Given the description of an element on the screen output the (x, y) to click on. 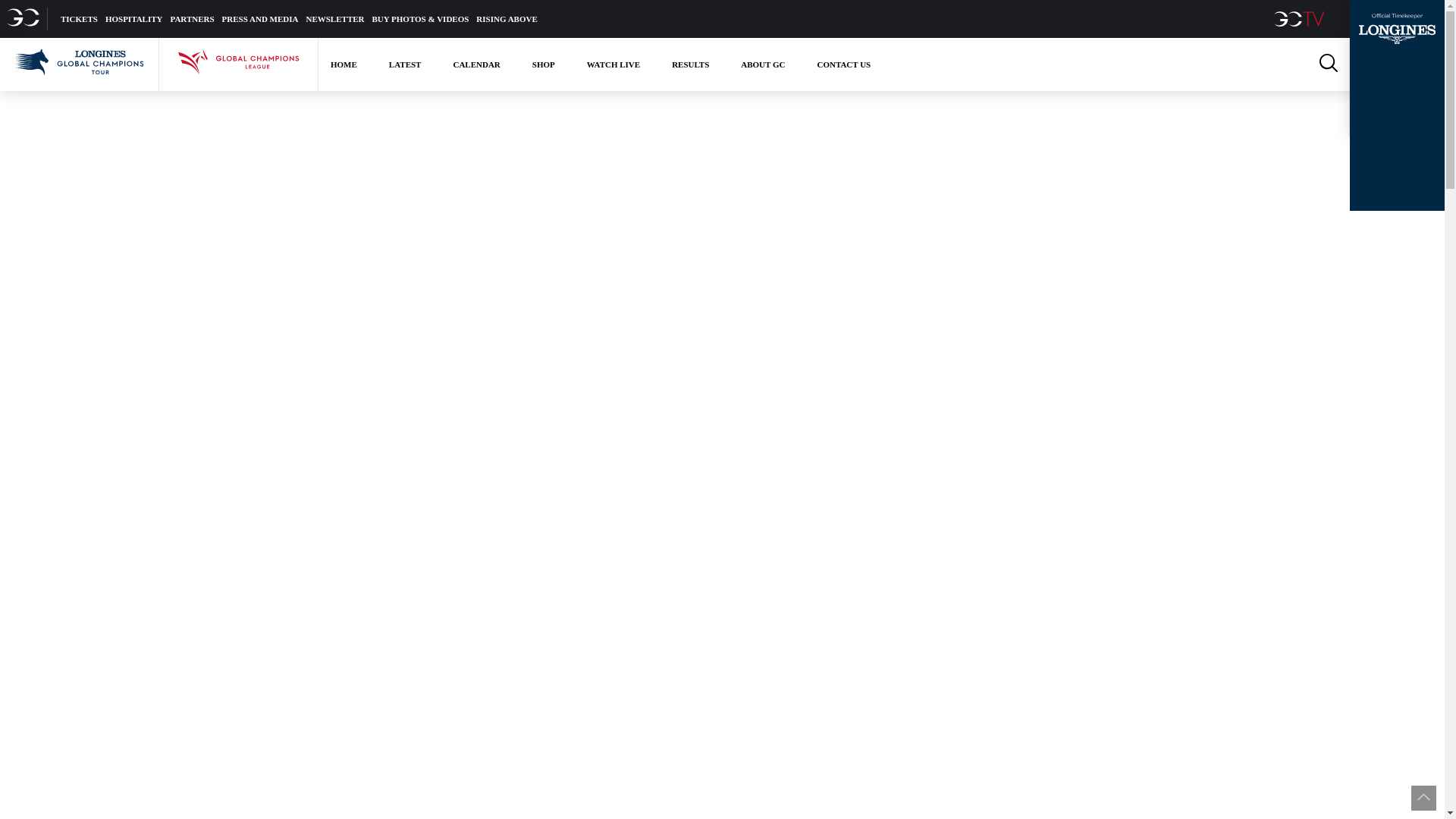
CONTACT US (843, 63)
RISING ABOVE (506, 18)
GCL (237, 63)
GCTV (1300, 18)
GC (23, 18)
TICKETS (79, 18)
PARTNERS (192, 18)
PRESS AND MEDIA (260, 18)
LGCT (79, 63)
NEWSLETTER (334, 18)
